Given the description of an element on the screen output the (x, y) to click on. 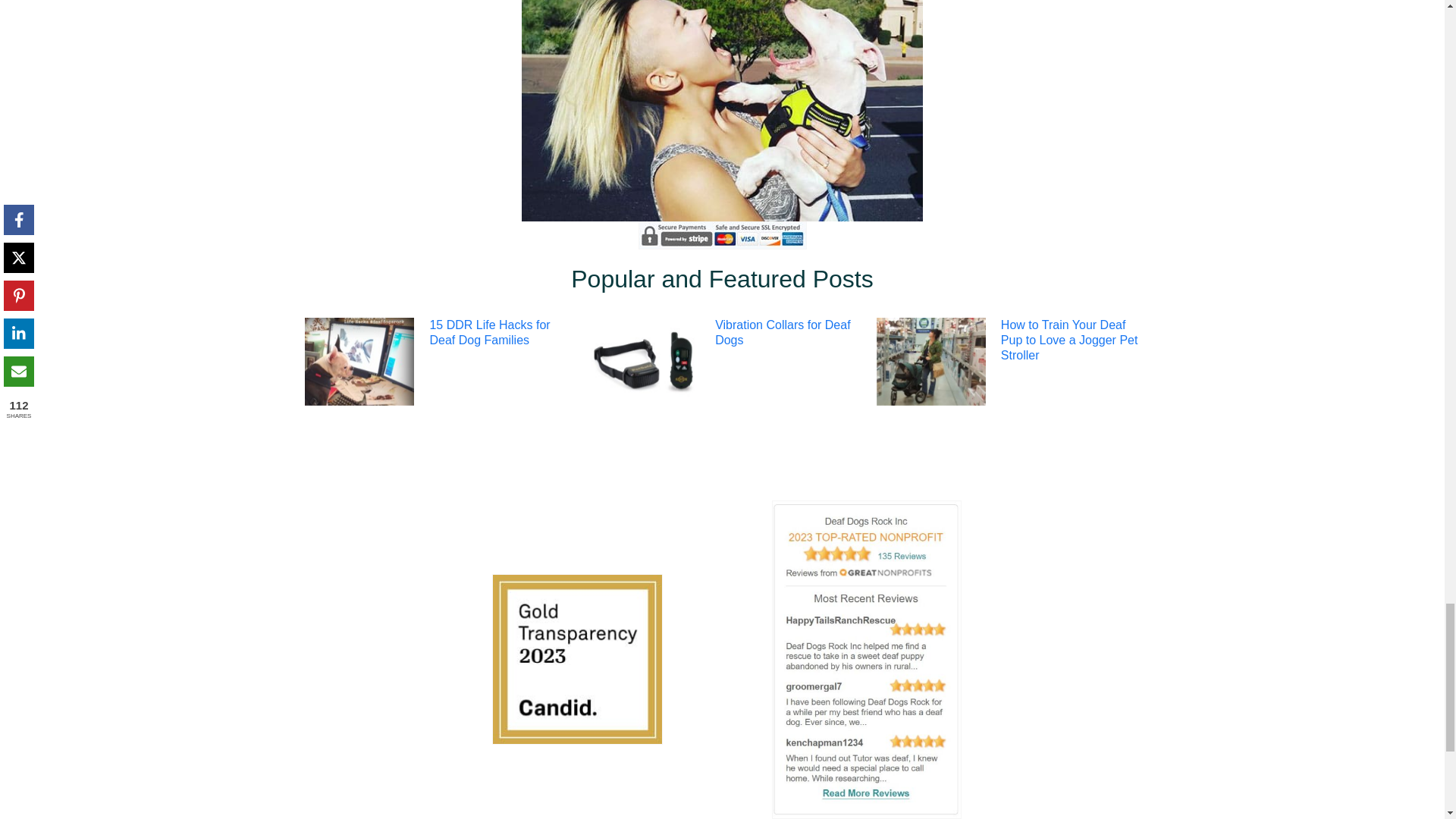
Quick-donate-slider-2 (721, 110)
powered-by-stripe-35px (722, 234)
